Given the description of an element on the screen output the (x, y) to click on. 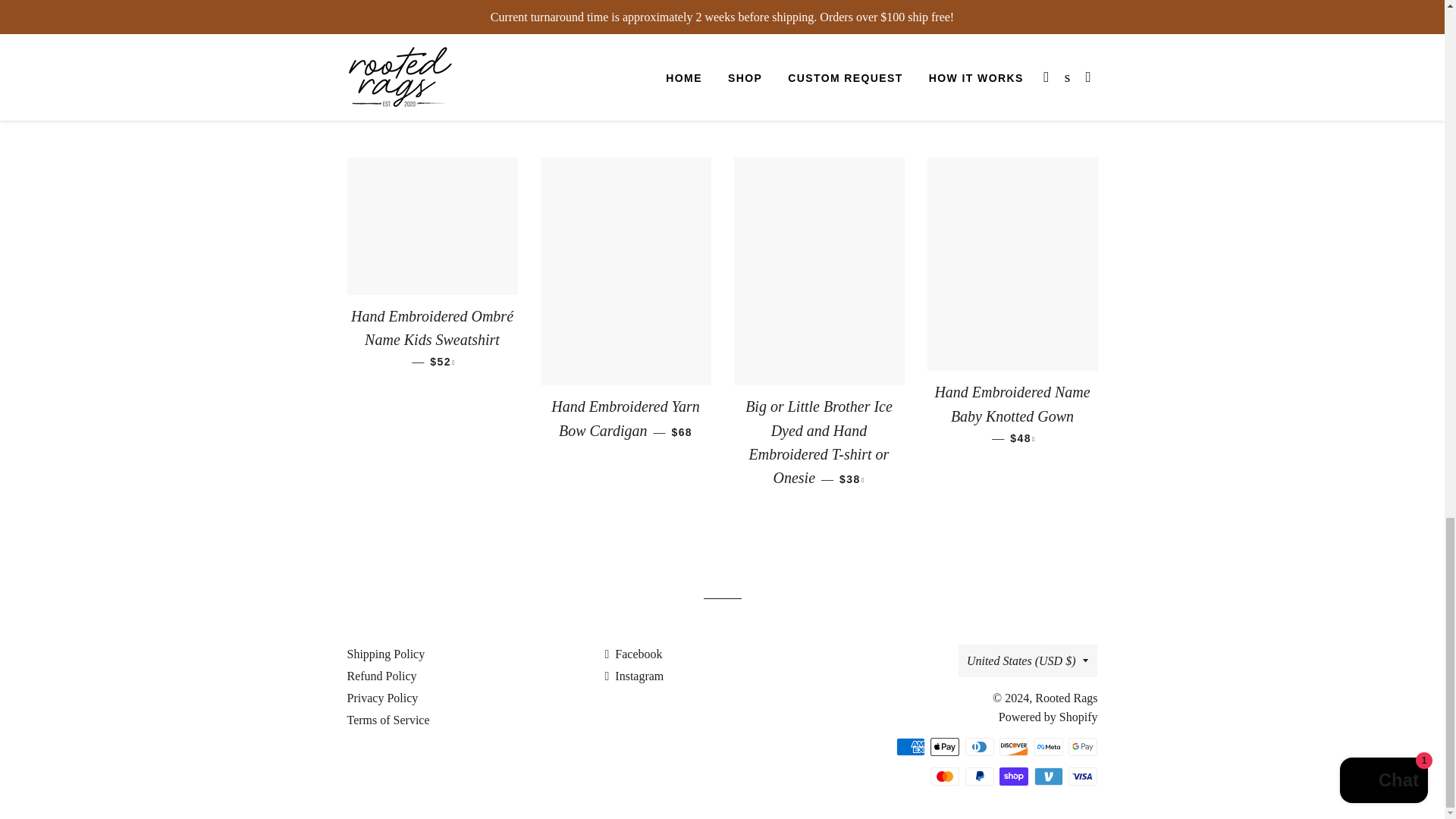
American Express (910, 746)
Shop Pay (1012, 776)
Rooted Rags on Instagram (633, 675)
PayPal (979, 776)
Venmo (1047, 776)
Diners Club (979, 746)
Mastercard (944, 776)
Discover (1012, 746)
Visa (1082, 776)
Google Pay (1082, 746)
Refund Policy (381, 675)
Shipping Policy (386, 653)
Meta Pay (1047, 746)
Rooted Rags on Facebook (633, 653)
Apple Pay (944, 746)
